Given the description of an element on the screen output the (x, y) to click on. 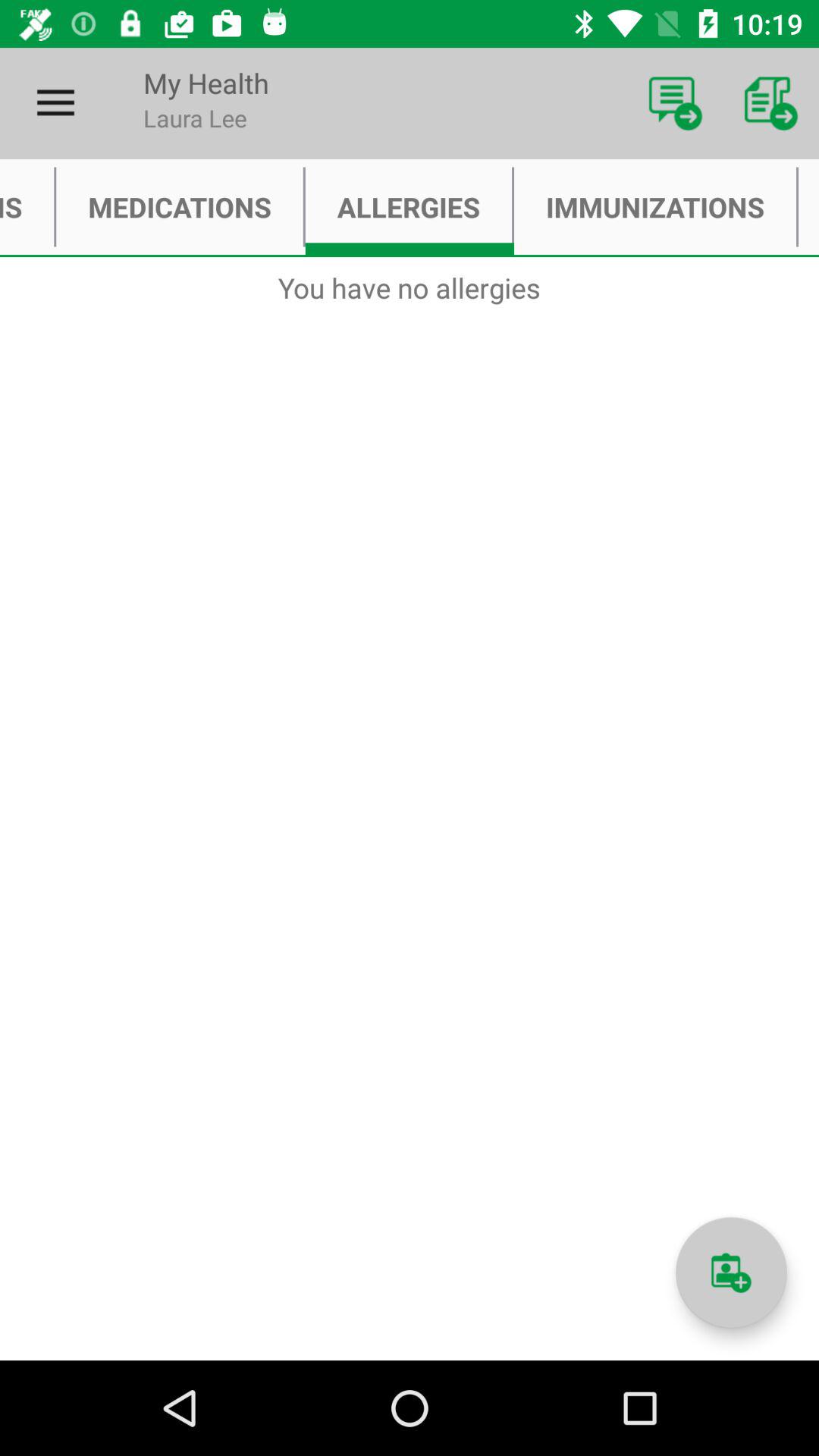
click icon above the conditions item (55, 103)
